Given the description of an element on the screen output the (x, y) to click on. 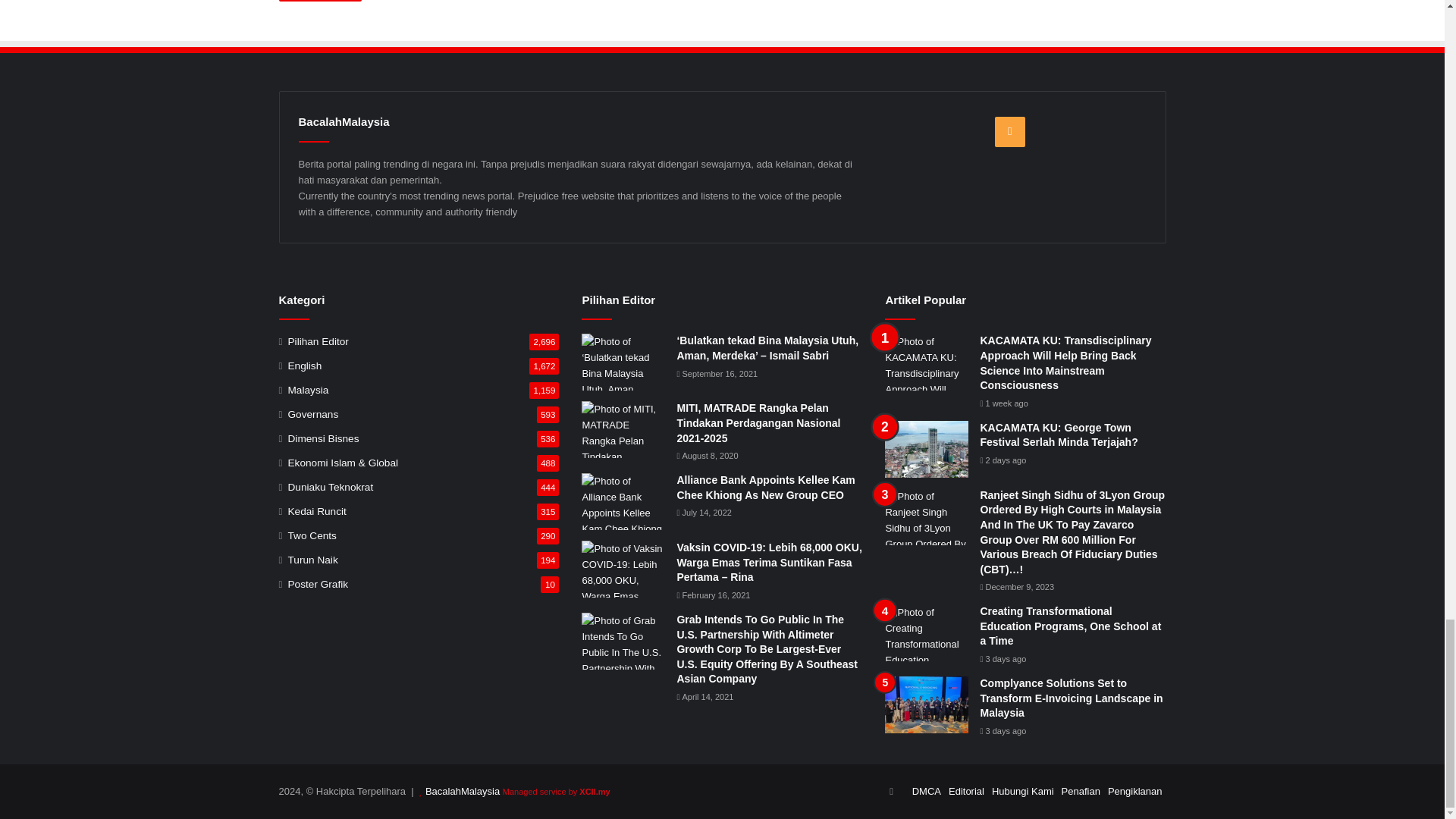
Post Comment (320, 0)
